Given the description of an element on the screen output the (x, y) to click on. 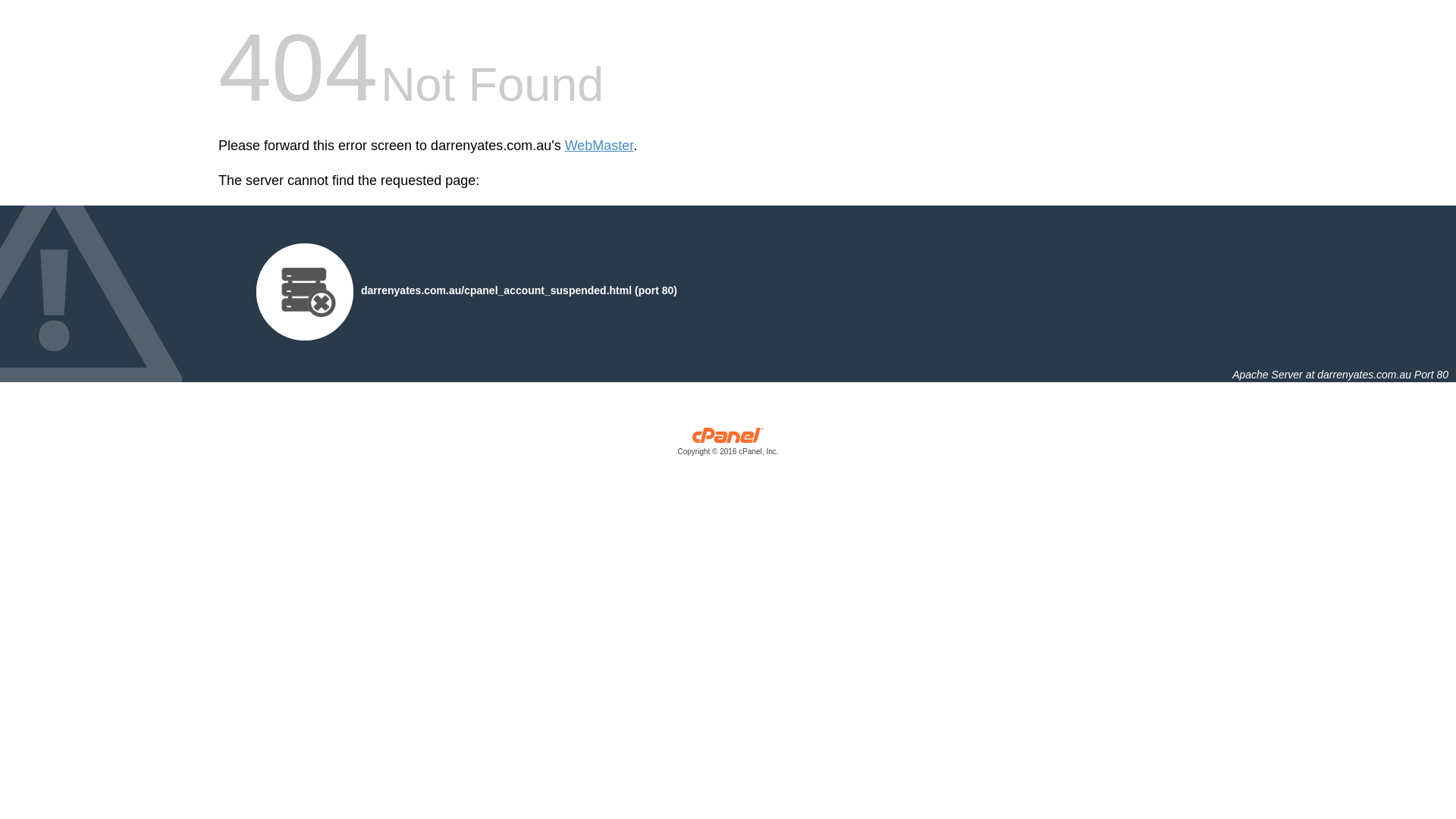
WebMaster Element type: text (598, 145)
